Given the description of an element on the screen output the (x, y) to click on. 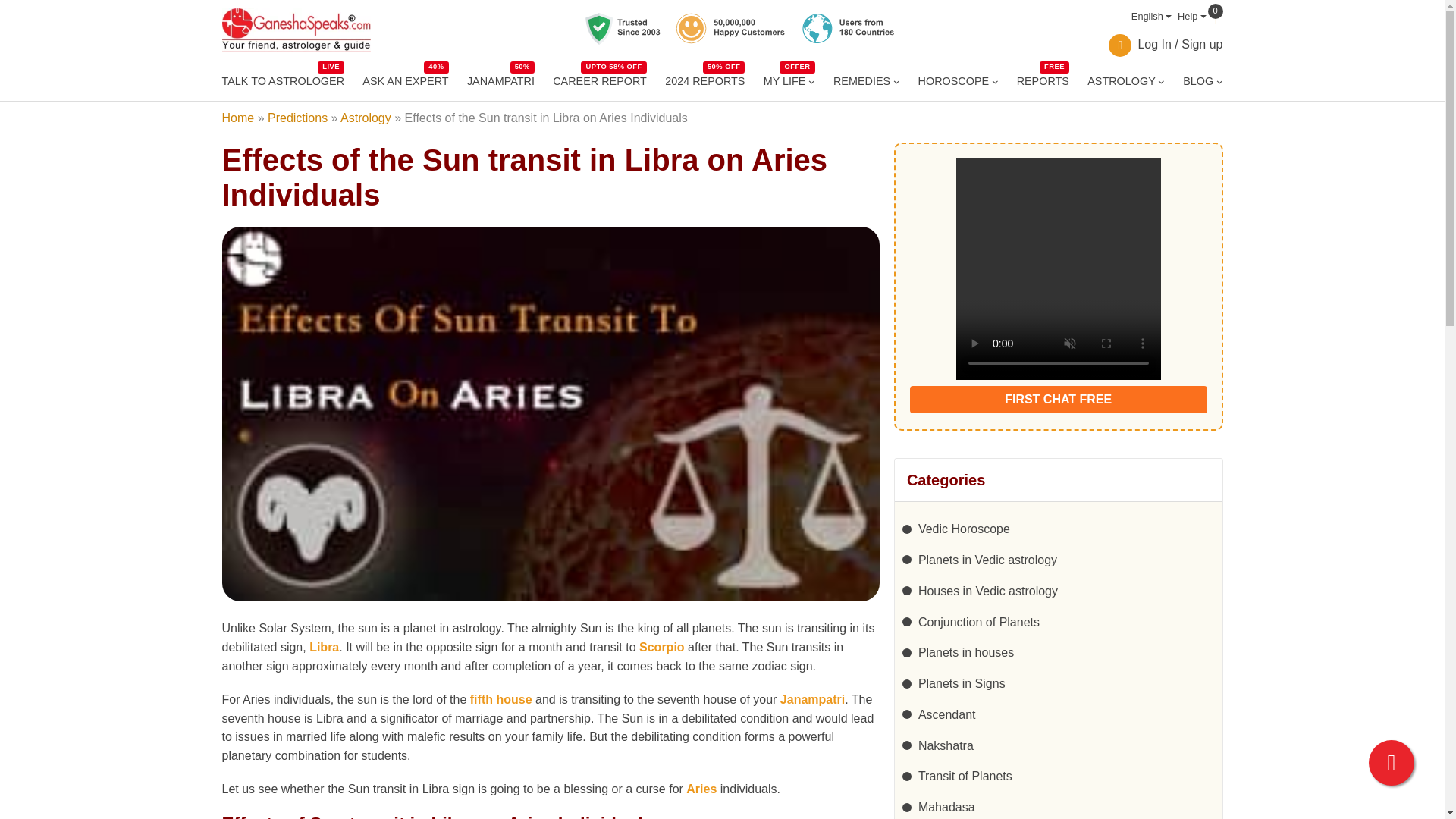
English (1148, 16)
Help (1189, 16)
